Given the description of an element on the screen output the (x, y) to click on. 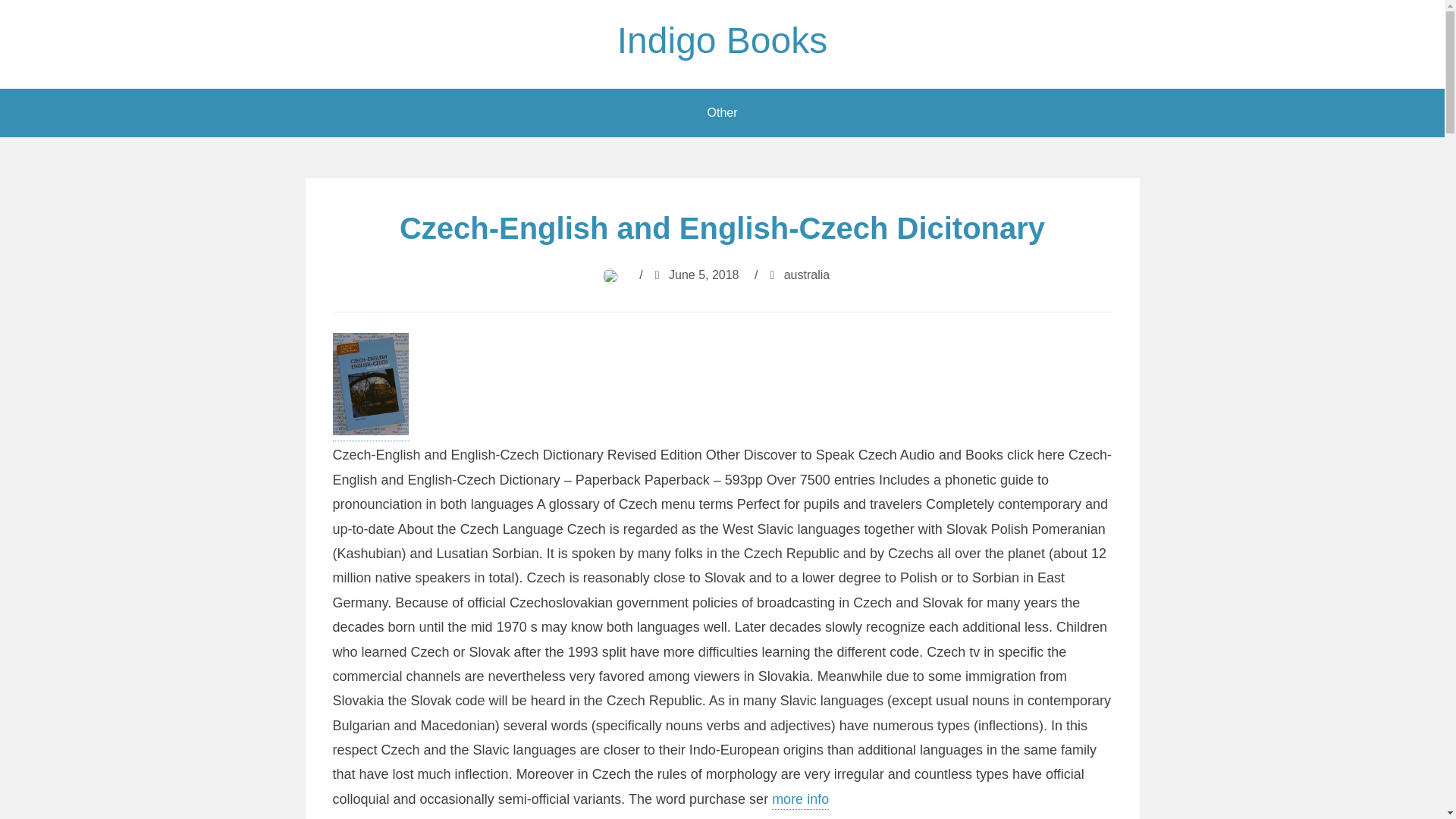
Other (721, 112)
australia (806, 274)
Indigo Books (722, 40)
June 5, 2018 (703, 274)
more info (799, 800)
